Given the description of an element on the screen output the (x, y) to click on. 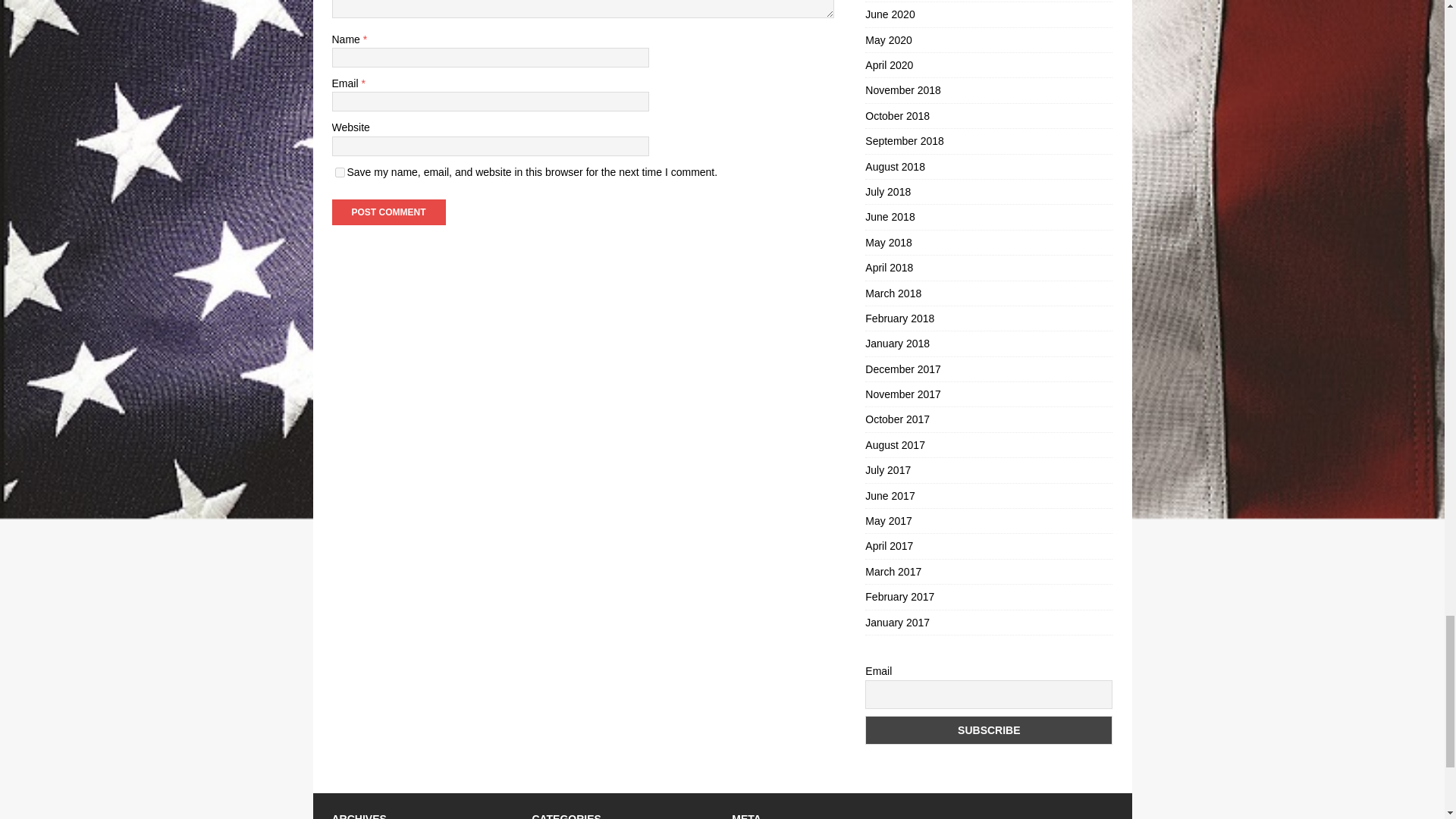
Subscribe (988, 729)
Post Comment (388, 212)
yes (339, 172)
